Given the description of an element on the screen output the (x, y) to click on. 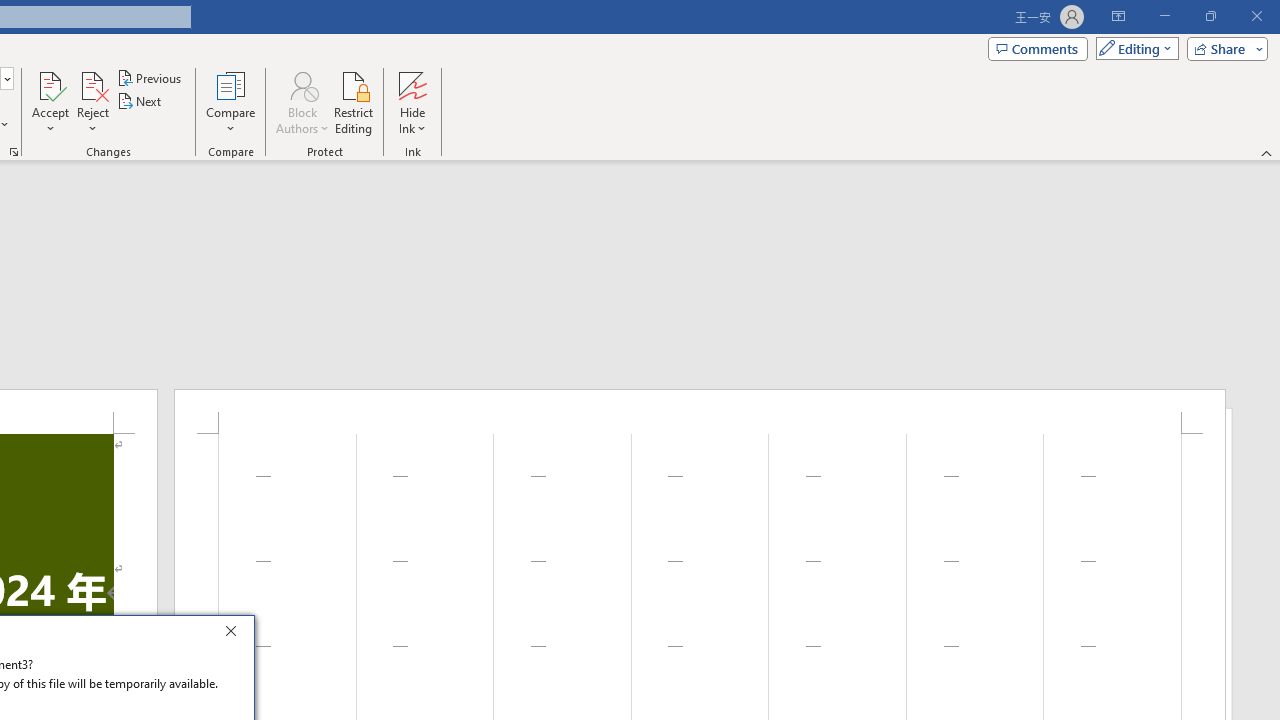
Next (140, 101)
Hide Ink (412, 102)
Header -Section 1- (700, 411)
Change Tracking Options... (13, 151)
Reject (92, 102)
Restrict Editing (353, 102)
